Given the description of an element on the screen output the (x, y) to click on. 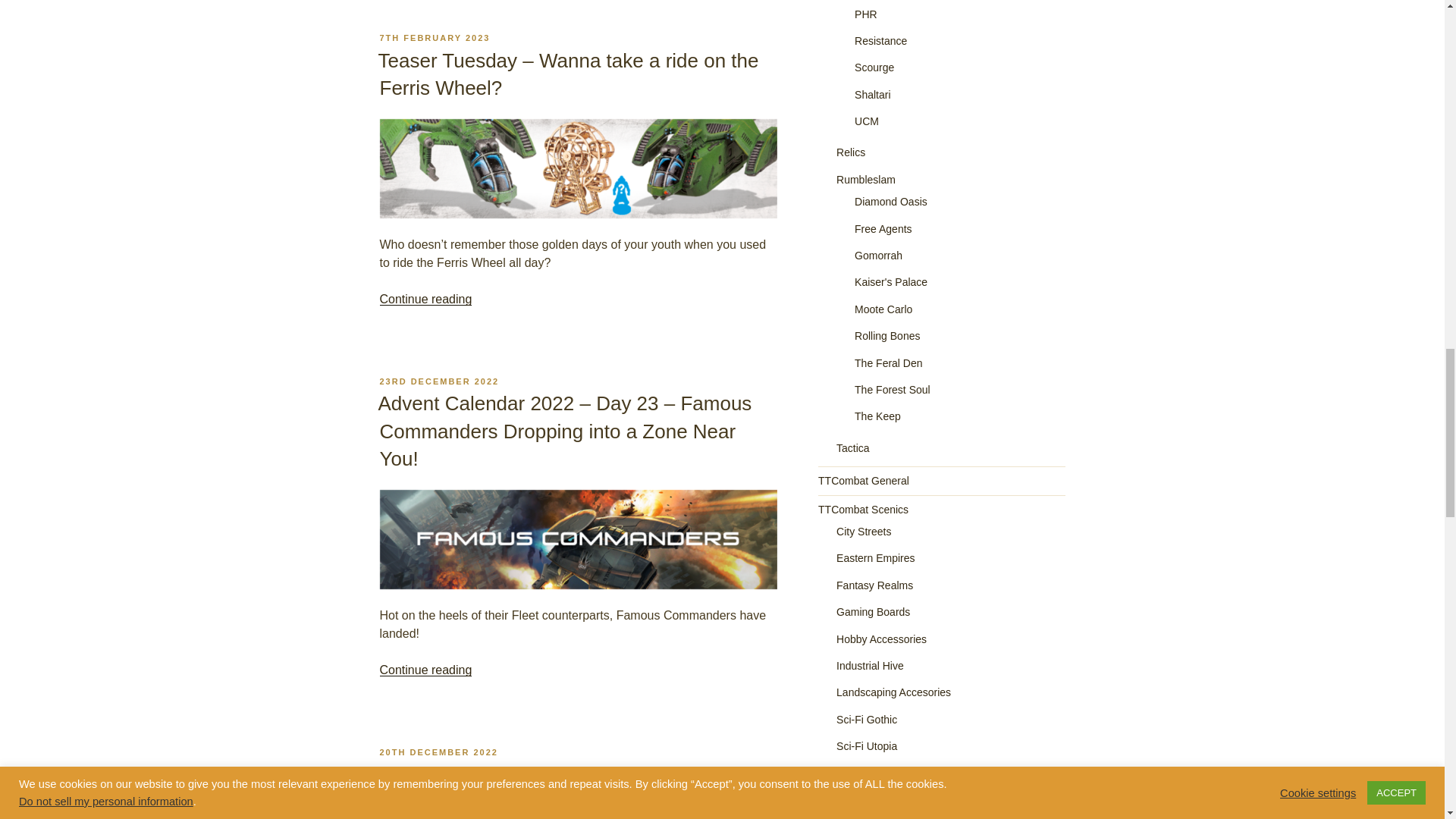
7TH FEBRUARY 2023 (433, 37)
20TH DECEMBER 2022 (437, 751)
23RD DECEMBER 2022 (438, 380)
